Given the description of an element on the screen output the (x, y) to click on. 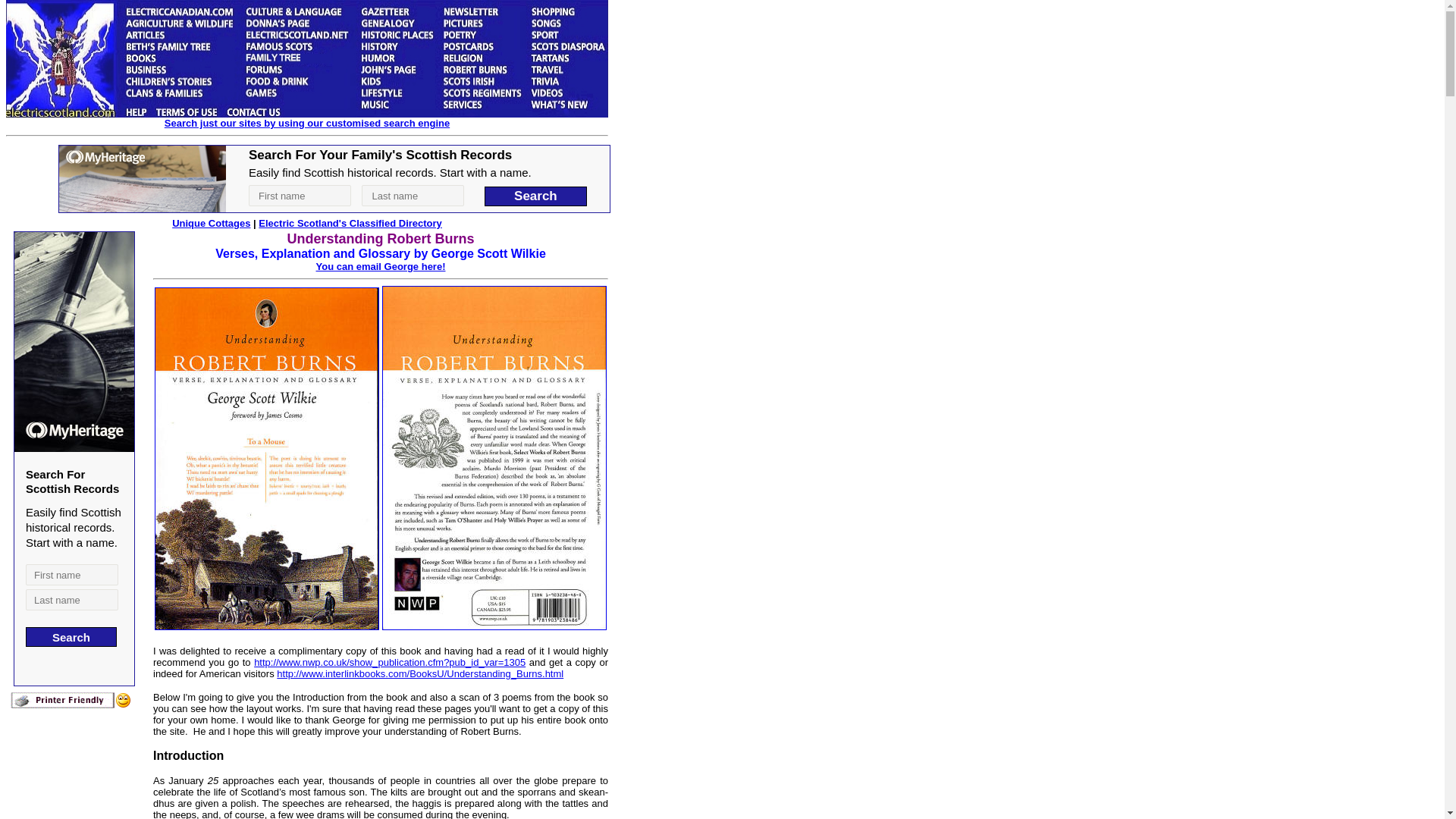
Electric Scotland's Classified Directory (350, 223)
Search just our sites by using our customised search engine (306, 122)
advertisement (334, 178)
Unique Cottages (210, 223)
You can email George here! (380, 266)
